Given the description of an element on the screen output the (x, y) to click on. 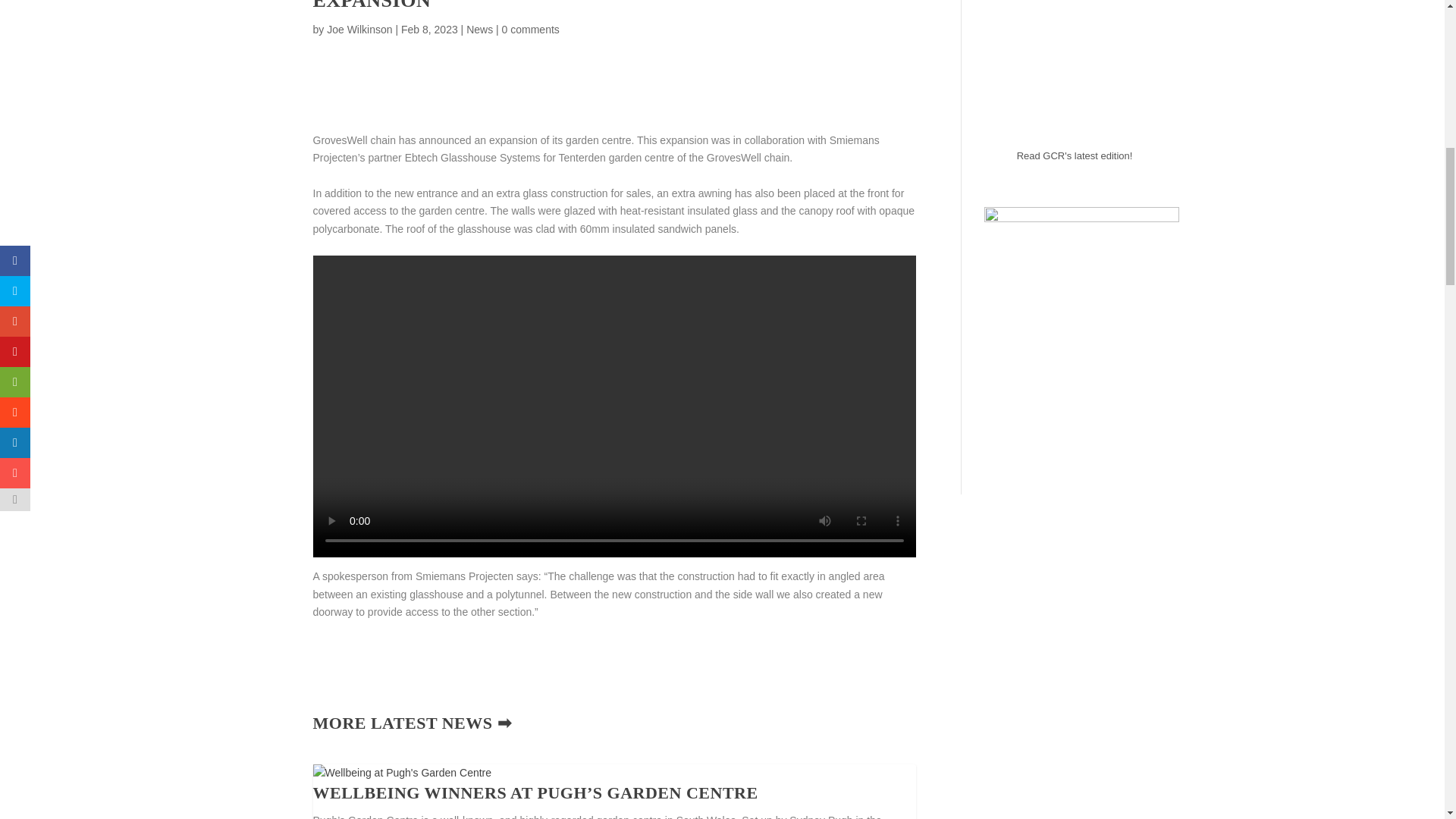
News (479, 29)
Posts by Joe Wilkinson (358, 29)
0 comments (530, 29)
Joe Wilkinson (358, 29)
